Given the description of an element on the screen output the (x, y) to click on. 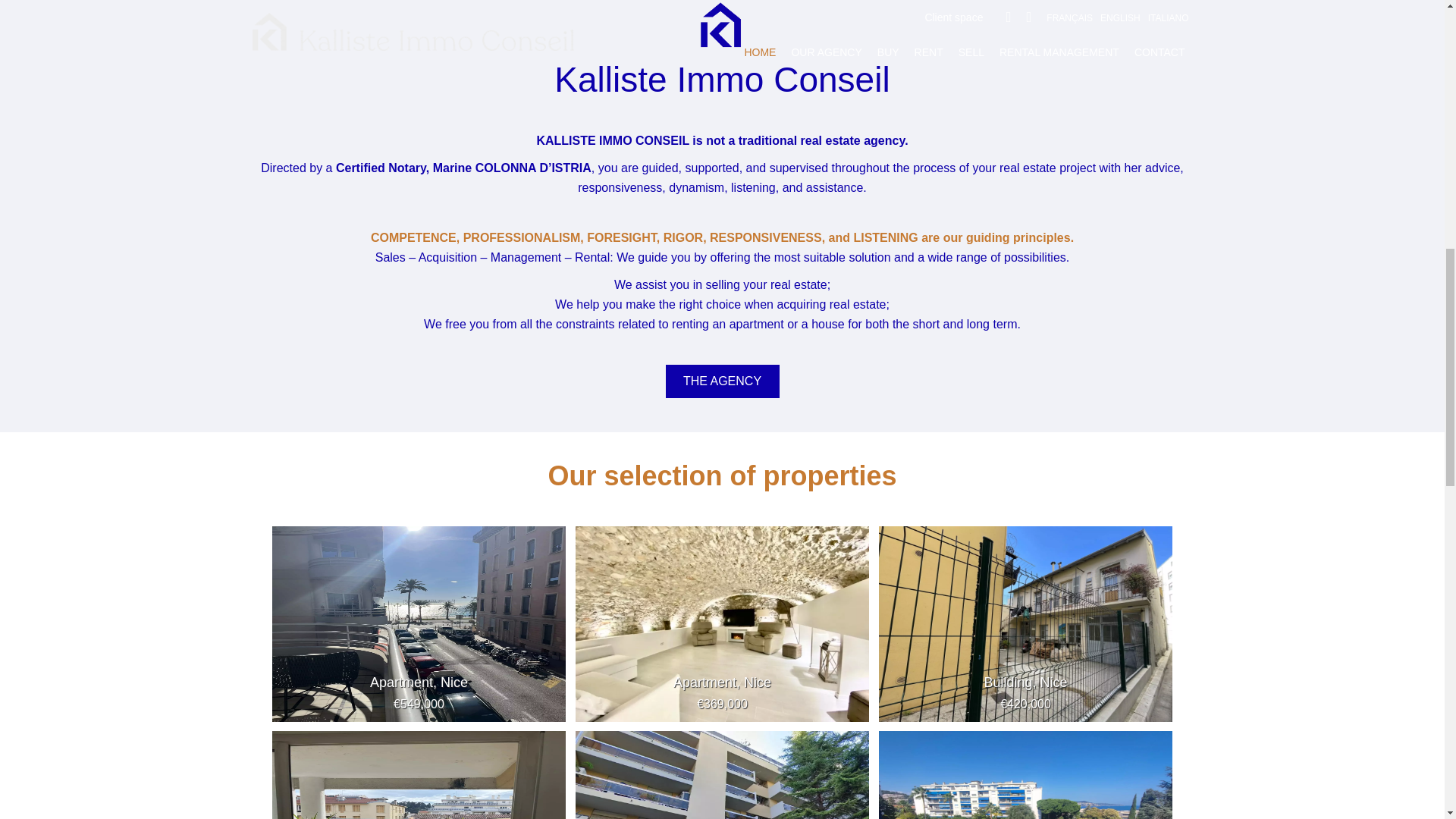
Sale Building Nice (1026, 620)
Rental Apartment Nice Fac de Lettres (1026, 775)
Sale Apartment Nice Saint Sylvestre (722, 775)
Sale Apartment Nice (418, 620)
THE AGENCY (721, 380)
Sale Apartment Nice Le Port (418, 775)
Sale Apartment Nice (722, 620)
